Given the description of an element on the screen output the (x, y) to click on. 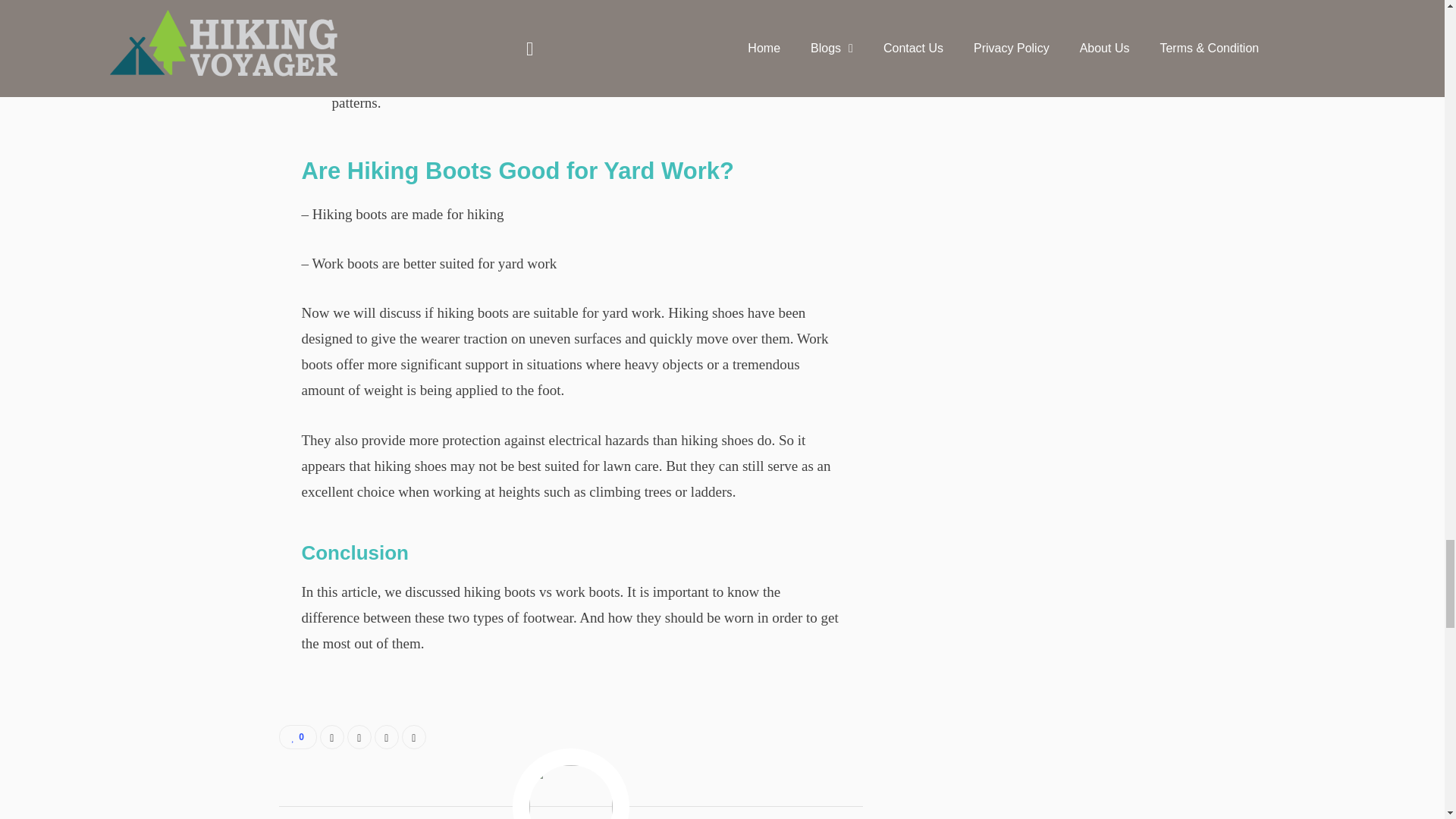
Share on Facebook (331, 736)
Share on Twitter (359, 736)
LinkedIn (386, 736)
Pinterest (413, 736)
